Given the description of an element on the screen output the (x, y) to click on. 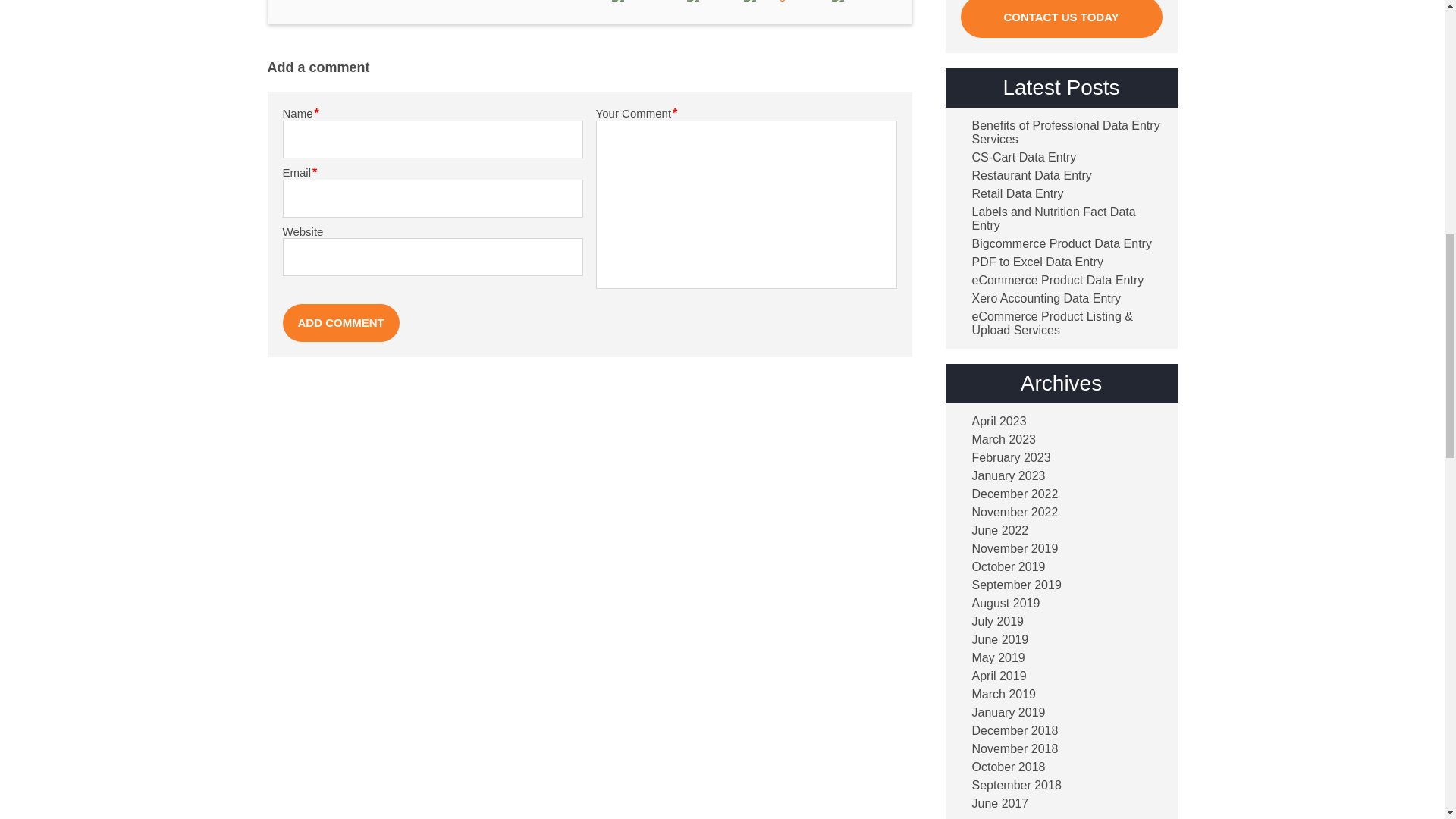
Contact us today (1060, 18)
Restaurant Data Entry (1024, 175)
Linkedin (860, 0)
CS-Cart Data Entry (1017, 157)
March 2023 (997, 439)
eCommerce Product Data Entry (1050, 280)
Retail Data Entry (1010, 193)
February 2023 (1004, 458)
Bigcommerce Product Data Entry (1055, 243)
Contact us today (1060, 18)
Google Plus (783, 0)
PDF to Excel Data Entry (1030, 262)
Facebook (644, 0)
Add Comment (340, 322)
January 2023 (1002, 476)
